Given the description of an element on the screen output the (x, y) to click on. 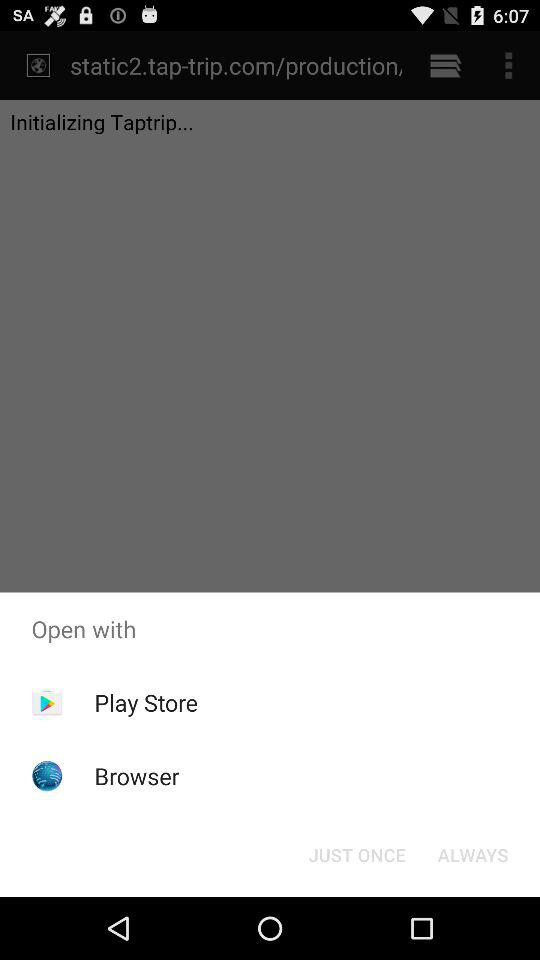
select the button at the bottom (356, 854)
